Given the description of an element on the screen output the (x, y) to click on. 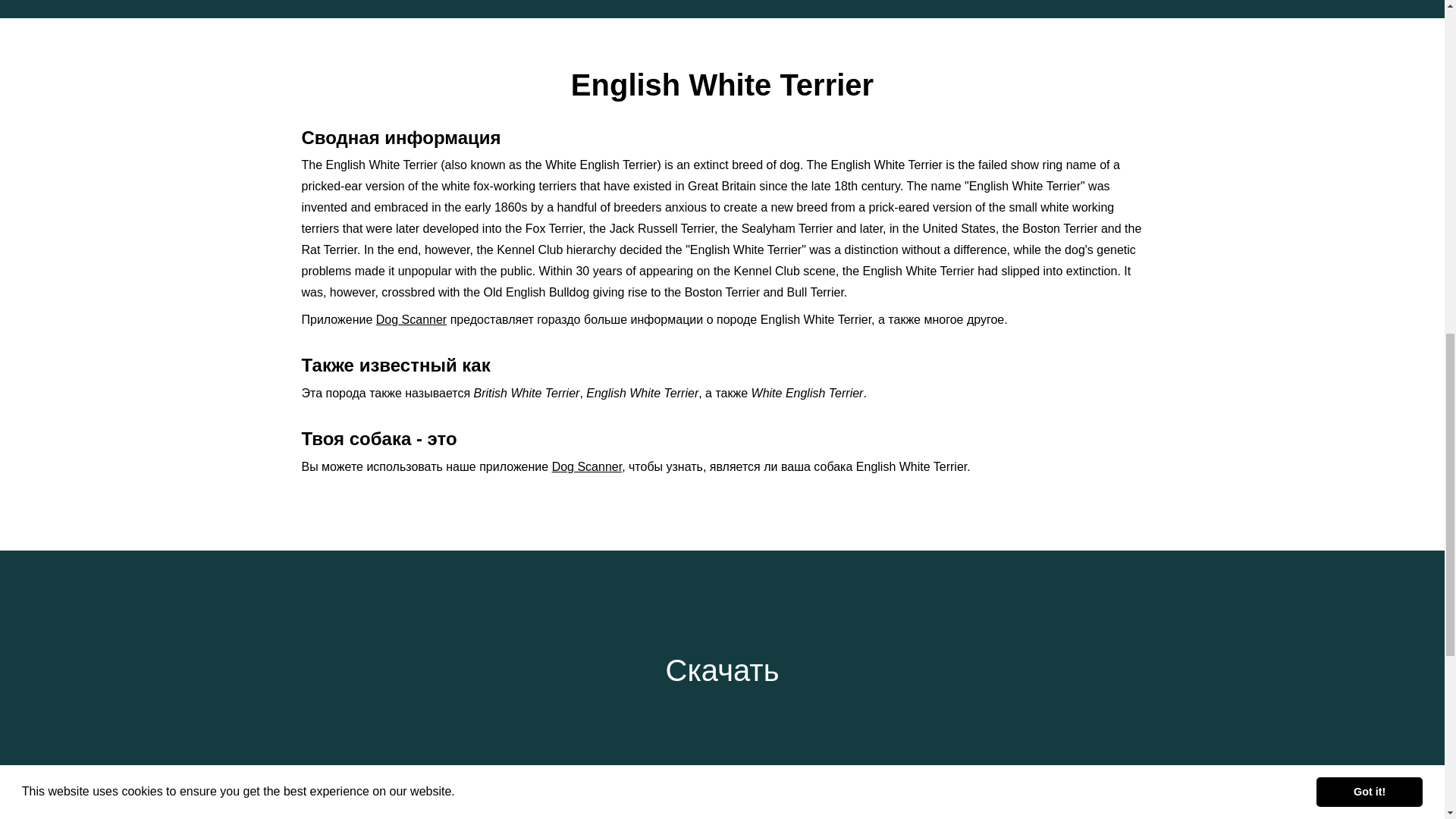
Twitter (748, 807)
Youtube (804, 807)
Dog Scanner (410, 318)
Dog Scanner (587, 466)
Facebook (695, 807)
